Given the description of an element on the screen output the (x, y) to click on. 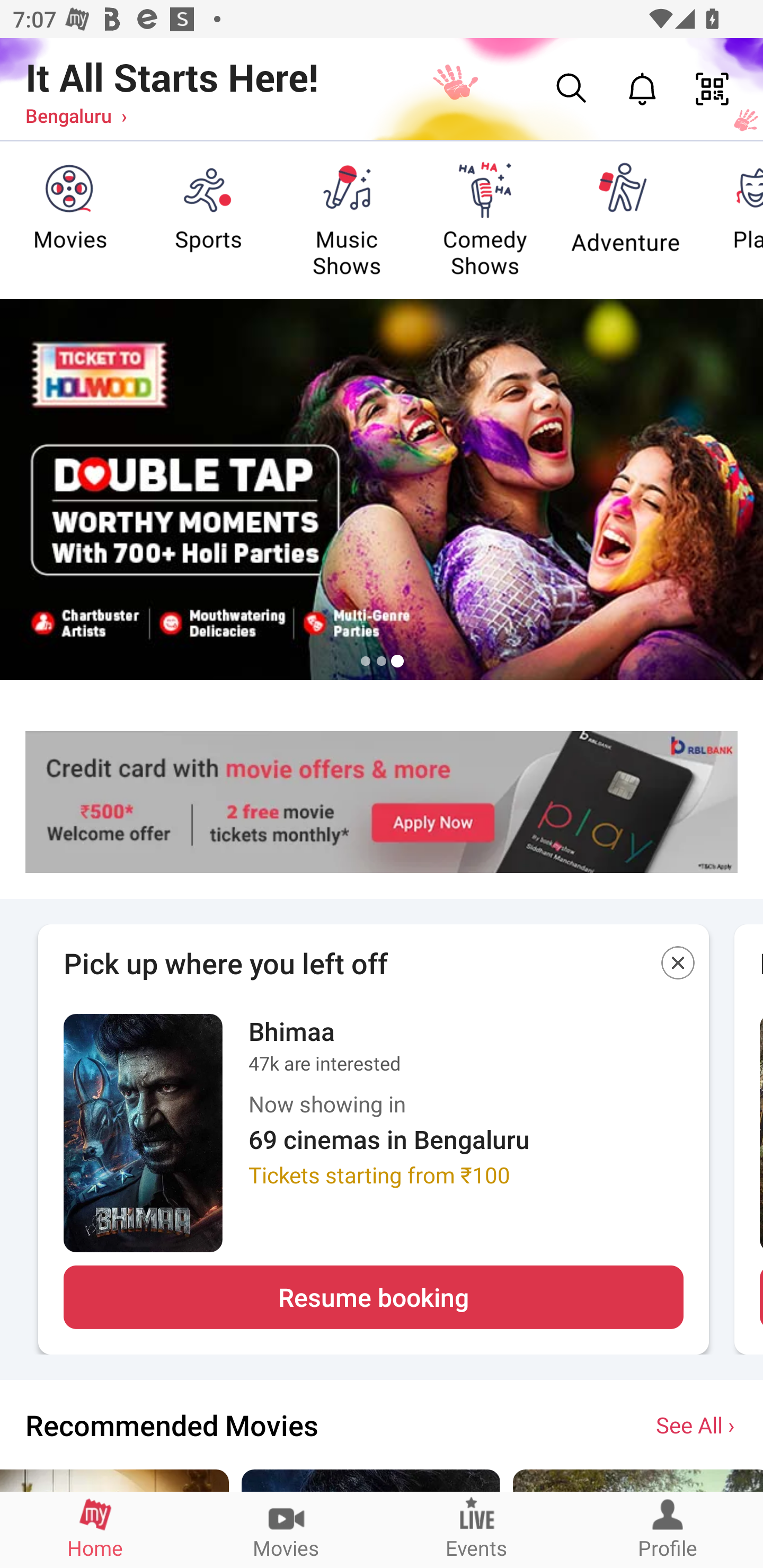
Bengaluru  › (76, 114)
  (678, 966)
Resume booking (373, 1297)
See All › (696, 1424)
Home (95, 1529)
Movies (285, 1529)
Events (476, 1529)
Profile (667, 1529)
